Given the description of an element on the screen output the (x, y) to click on. 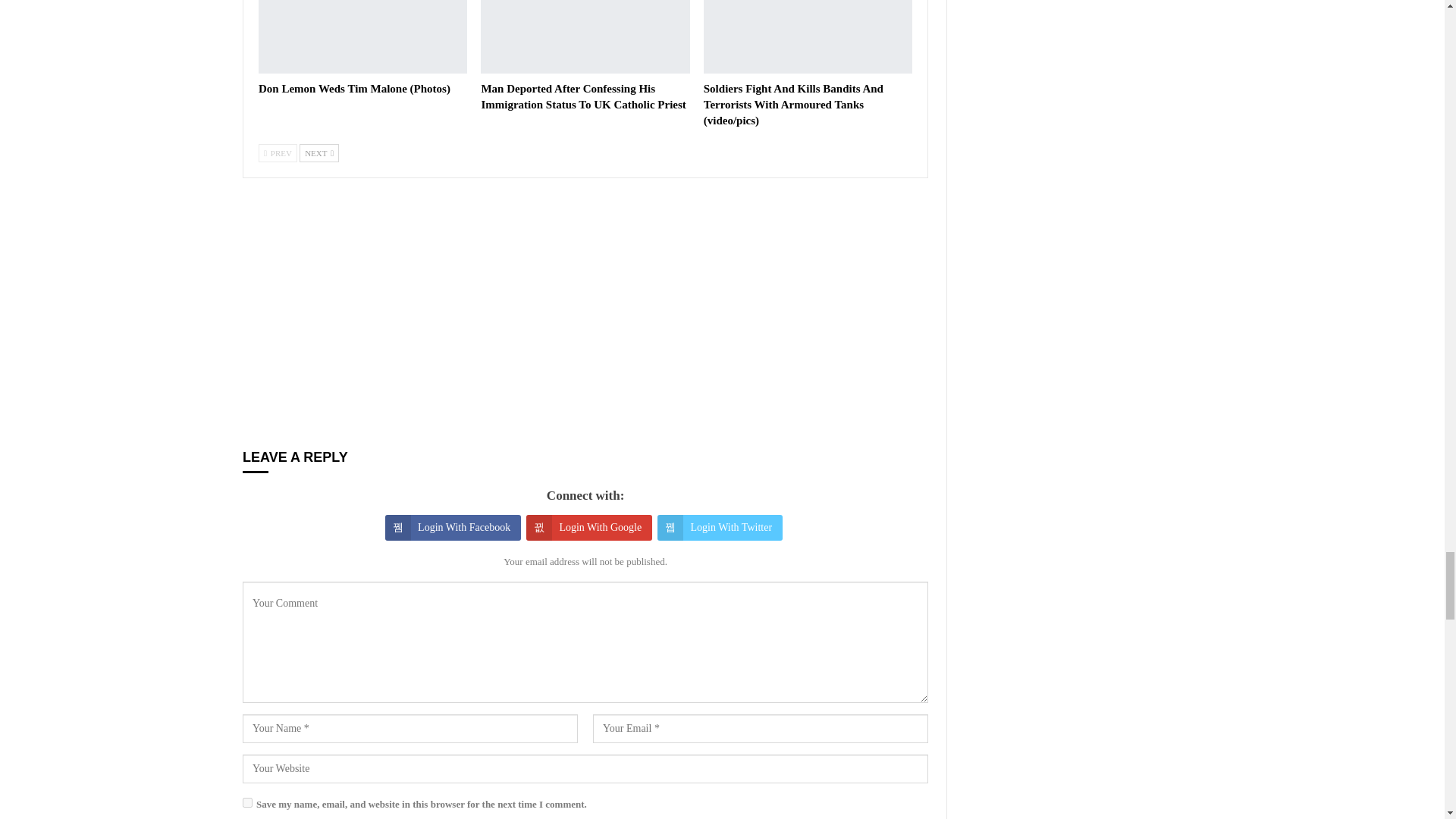
yes (247, 802)
